Given the description of an element on the screen output the (x, y) to click on. 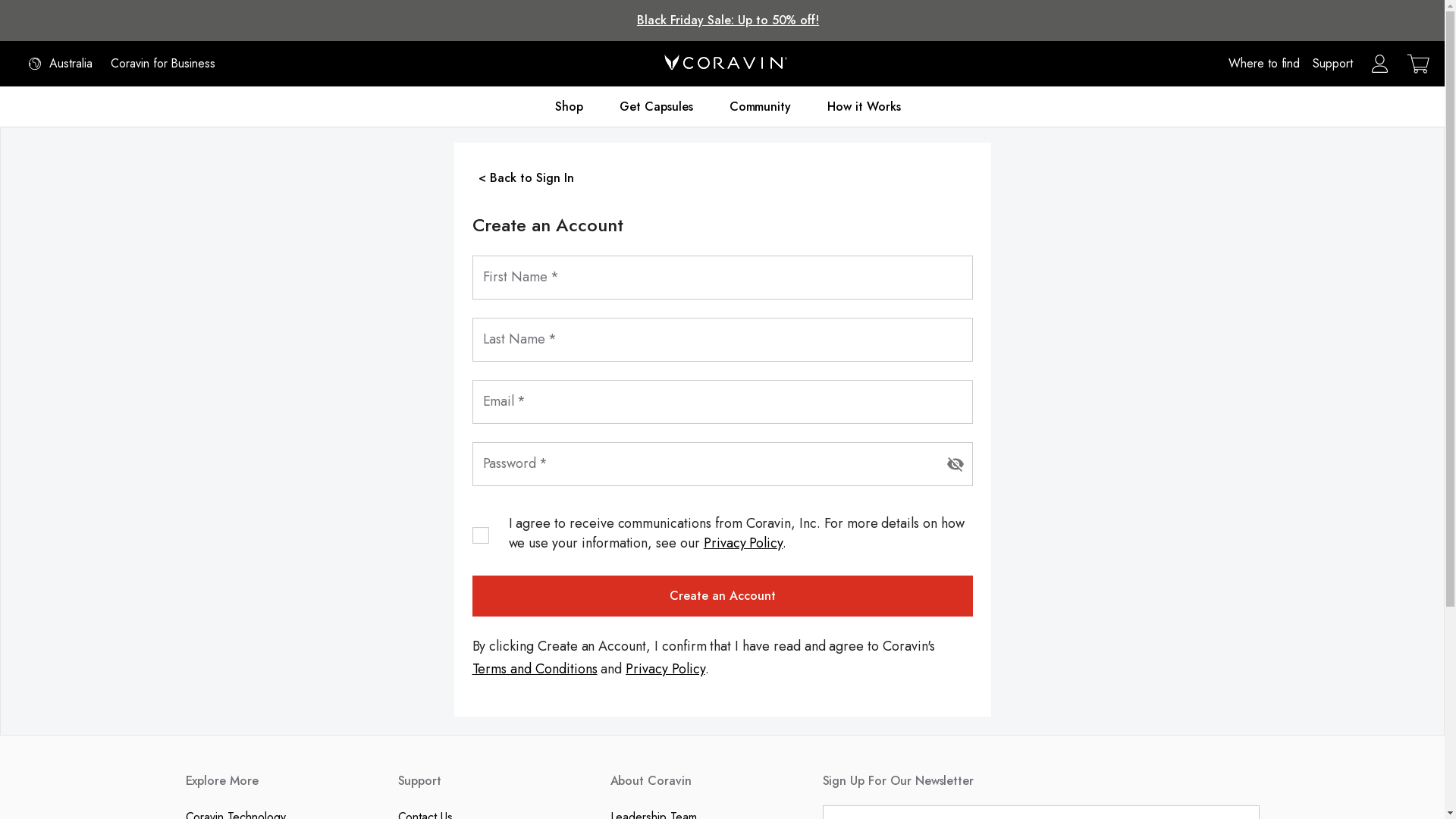
Where to find Element type: text (1263, 63)
Support Element type: text (1332, 63)
Coravin for Business Element type: text (162, 63)
Create an Account Element type: text (721, 595)
Icon displaying number
0 Element type: text (1418, 63)
< Back to Sign In Element type: text (525, 177)
Privacy Policy Element type: text (664, 668)
How it Works Element type: text (863, 106)
Black Friday Sale: Up to 50% off! Element type: text (728, 19)
Privacy Policy Element type: text (742, 542)
Get Capsules Element type: text (655, 106)
Terms and Conditions Element type: text (533, 668)
Community Element type: text (760, 106)
Shop Element type: text (569, 106)
Australia Element type: text (60, 63)
